Given the description of an element on the screen output the (x, y) to click on. 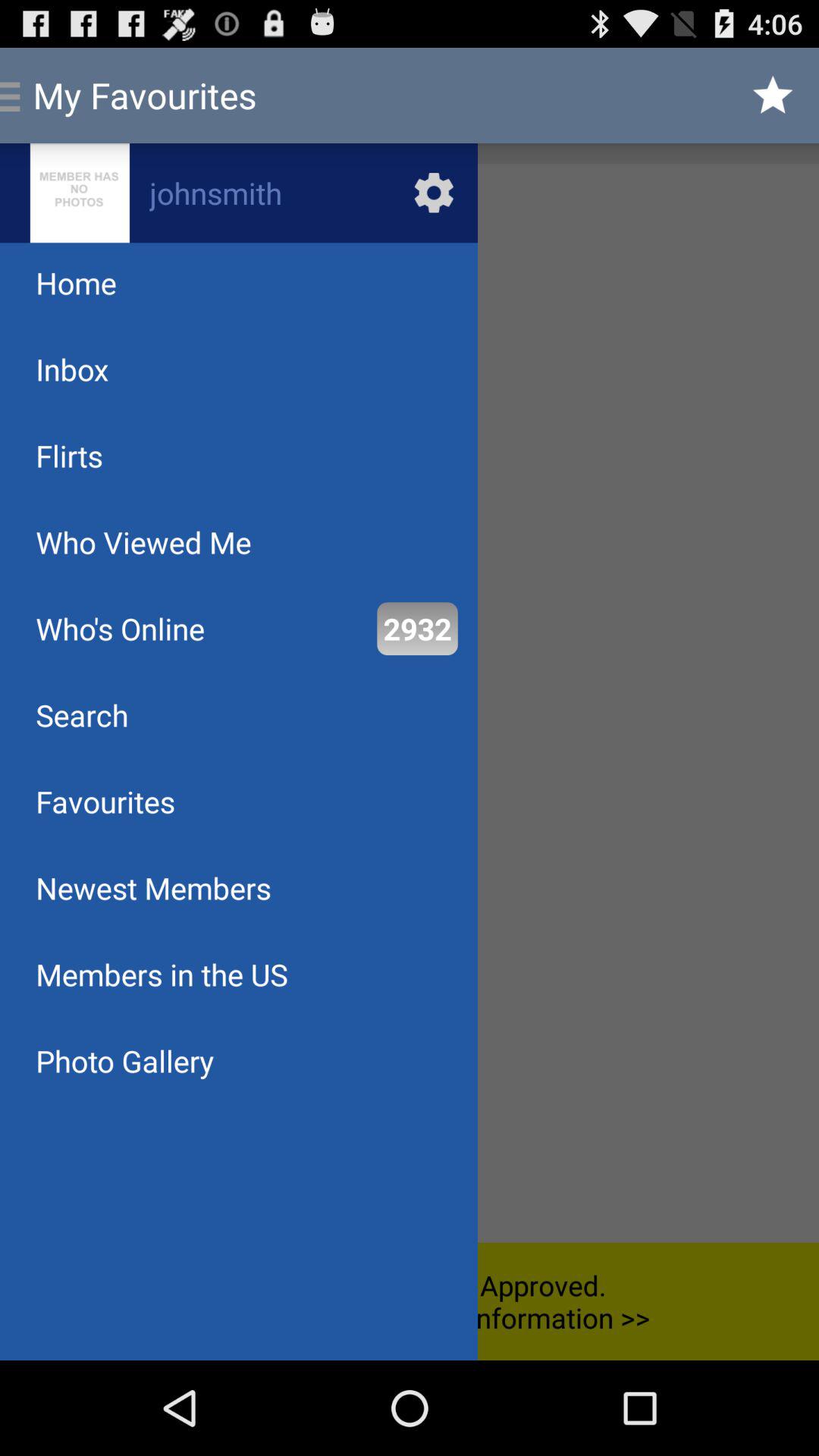
profile settings account settings (238, 192)
